Given the description of an element on the screen output the (x, y) to click on. 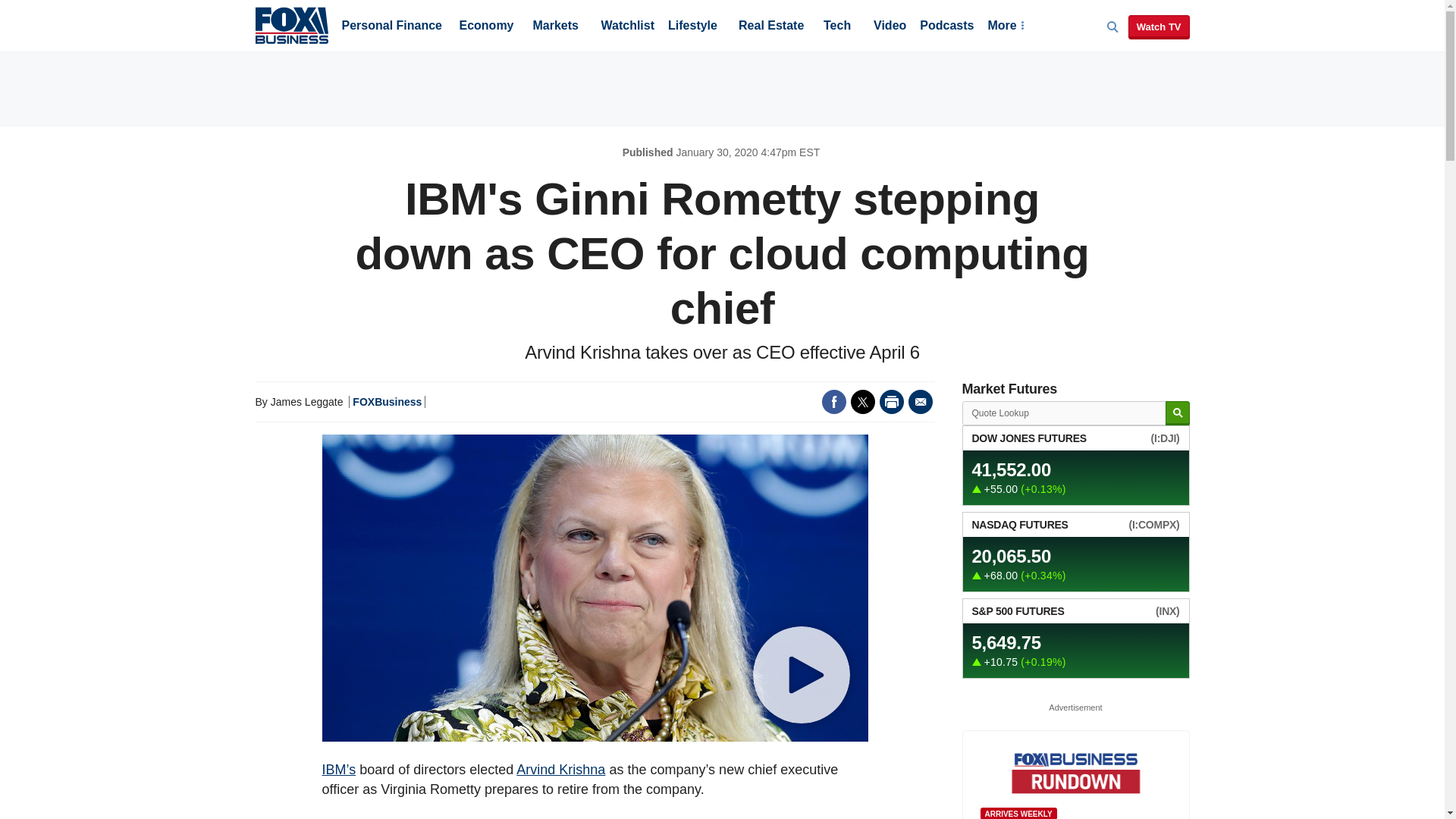
Watchlist (626, 27)
Personal Finance (391, 27)
More (1005, 27)
Video (889, 27)
Search (1176, 413)
Podcasts (947, 27)
Real Estate (770, 27)
Markets (555, 27)
Tech (837, 27)
Search (1176, 413)
Watch TV (1158, 27)
Lifestyle (692, 27)
Fox Business (290, 24)
Economy (486, 27)
